Given the description of an element on the screen output the (x, y) to click on. 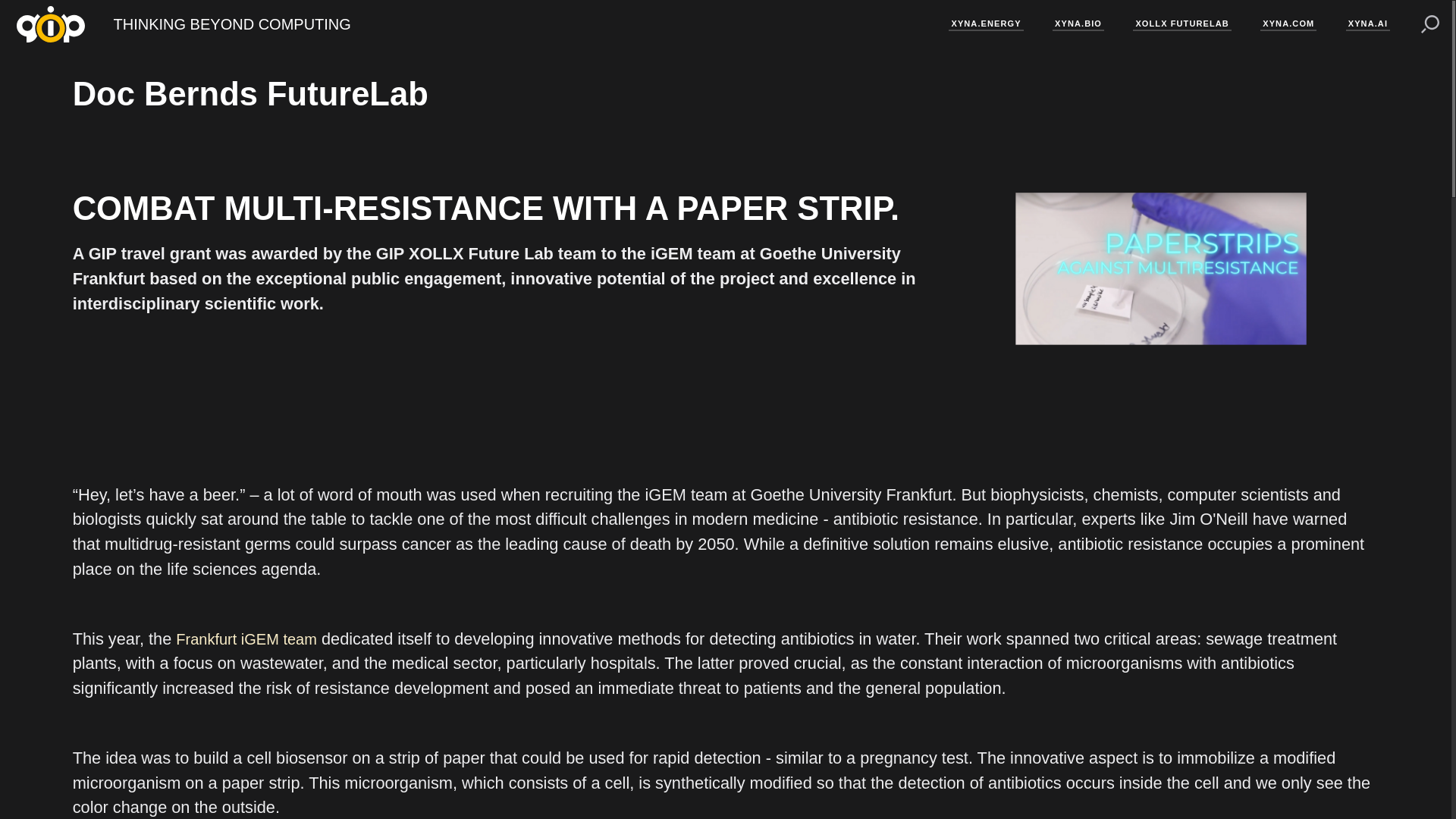
XOLLX FUTURELAB (1181, 24)
XYNA.BIO (1077, 24)
Frankfurt iGEM team (246, 639)
XYNA.COM (1288, 24)
Doc Bernds FutureLab (250, 95)
XYNA.ENERGY (986, 24)
XYNA.AI (1367, 24)
